Given the description of an element on the screen output the (x, y) to click on. 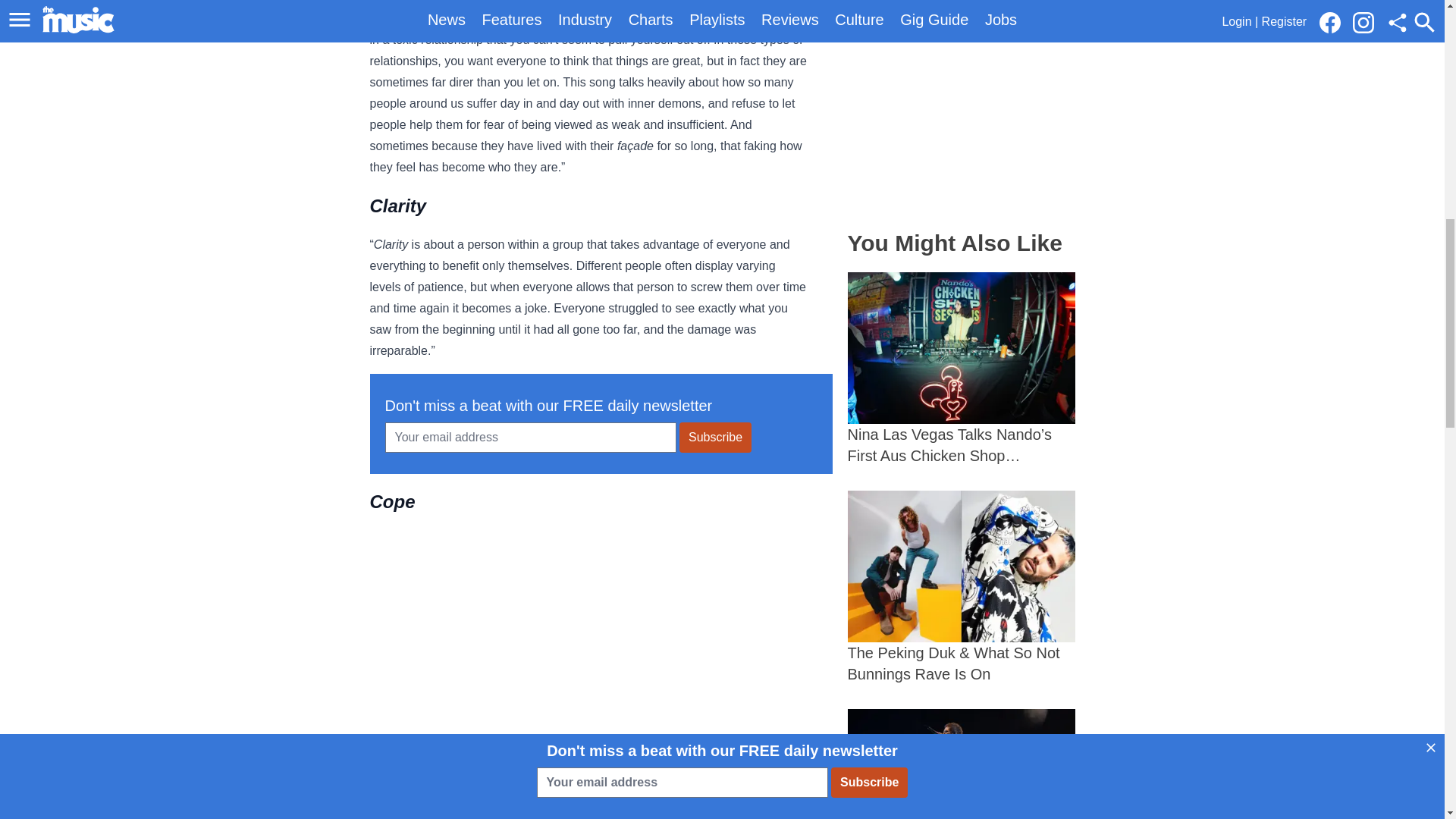
3rd party ad content (600, 638)
Subscribe (715, 437)
Spilt Milk Will Not Go Ahead In 2024 (961, 764)
3rd party ad content (961, 107)
